Given the description of an element on the screen output the (x, y) to click on. 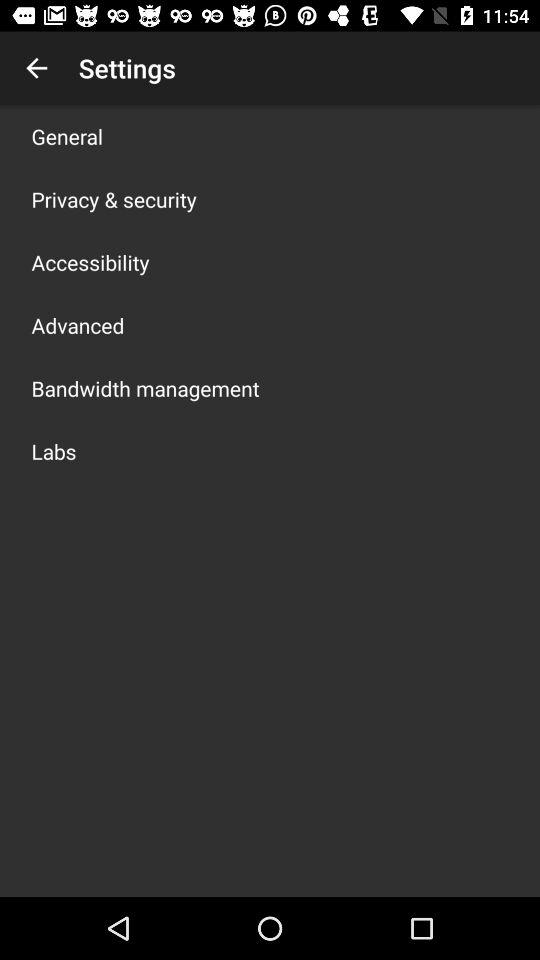
choose the accessibility item (90, 262)
